Given the description of an element on the screen output the (x, y) to click on. 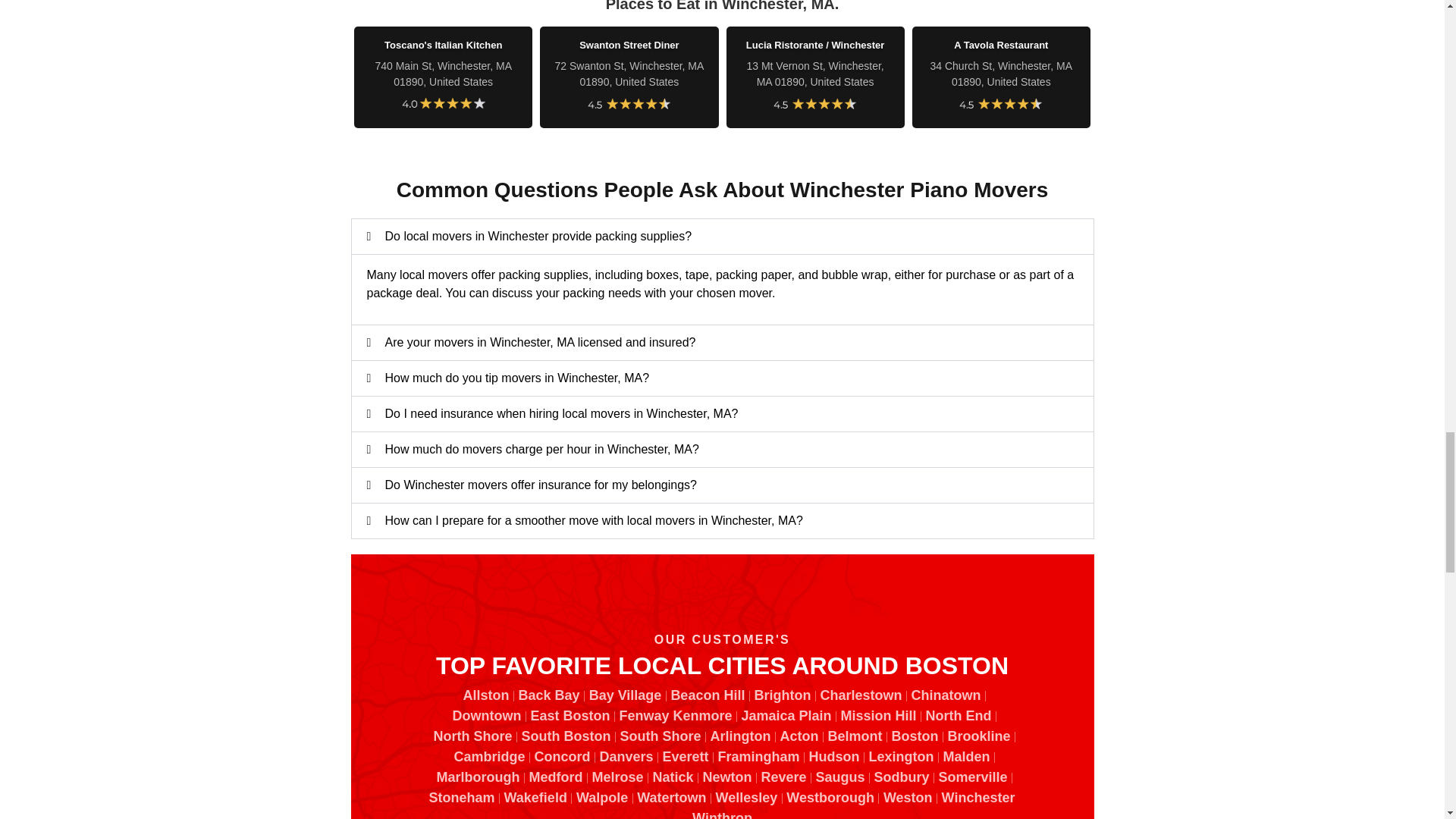
Winchester Piano Movers 3 (815, 103)
Winchester Piano Movers 10 (1000, 103)
Winchester Piano Movers 7 (442, 103)
Winchester Piano Movers 3 (629, 103)
